Given the description of an element on the screen output the (x, y) to click on. 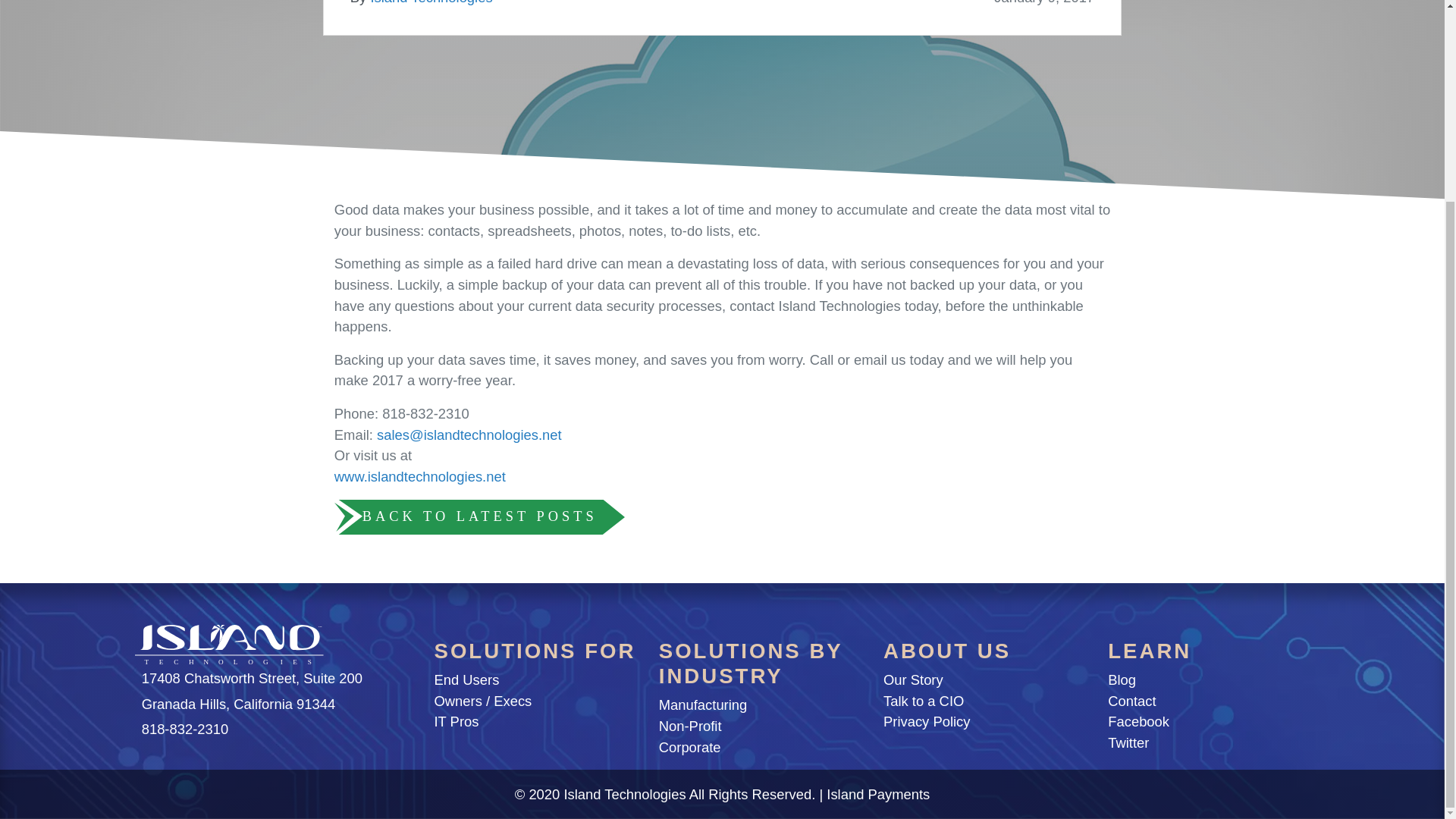
www.islandtechnologies.net (419, 476)
BACK TO LATEST POSTS (480, 516)
818-832-2310 (184, 729)
Island Technologies (430, 2)
Homepage (229, 646)
